Given the description of an element on the screen output the (x, y) to click on. 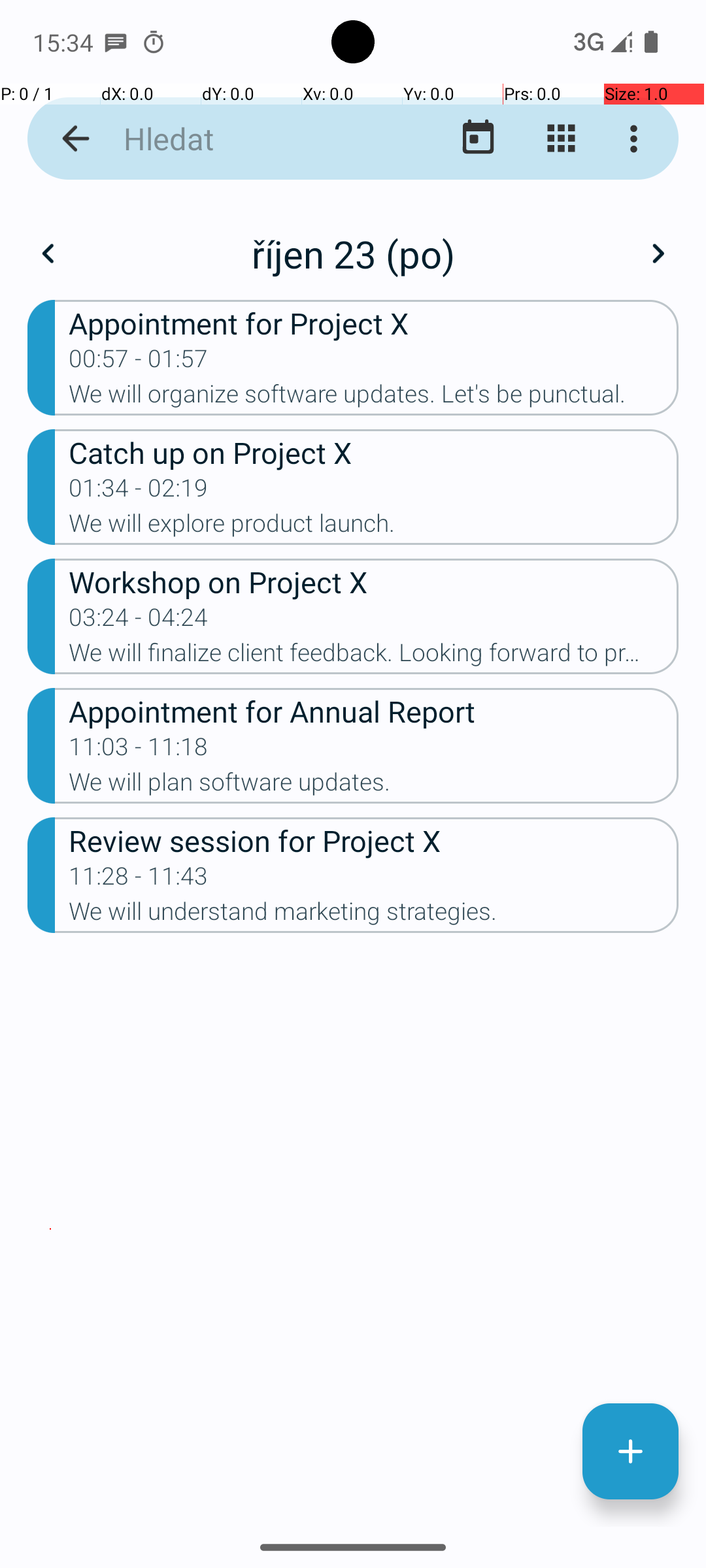
říjen 23 (po) Element type: android.widget.TextView (352, 253)
00:57 - 01:57 Element type: android.widget.TextView (137, 362)
We will organize software updates. Let's be punctual. Element type: android.widget.TextView (373, 397)
01:34 - 02:19 Element type: android.widget.TextView (137, 491)
We will explore product launch. Element type: android.widget.TextView (373, 526)
03:24 - 04:24 Element type: android.widget.TextView (137, 620)
We will finalize client feedback. Looking forward to productive discussions. Element type: android.widget.TextView (373, 656)
11:03 - 11:18 Element type: android.widget.TextView (137, 750)
We will plan software updates. Element type: android.widget.TextView (373, 785)
11:28 - 11:43 Element type: android.widget.TextView (137, 879)
We will understand marketing strategies. Element type: android.widget.TextView (373, 914)
